Given the description of an element on the screen output the (x, y) to click on. 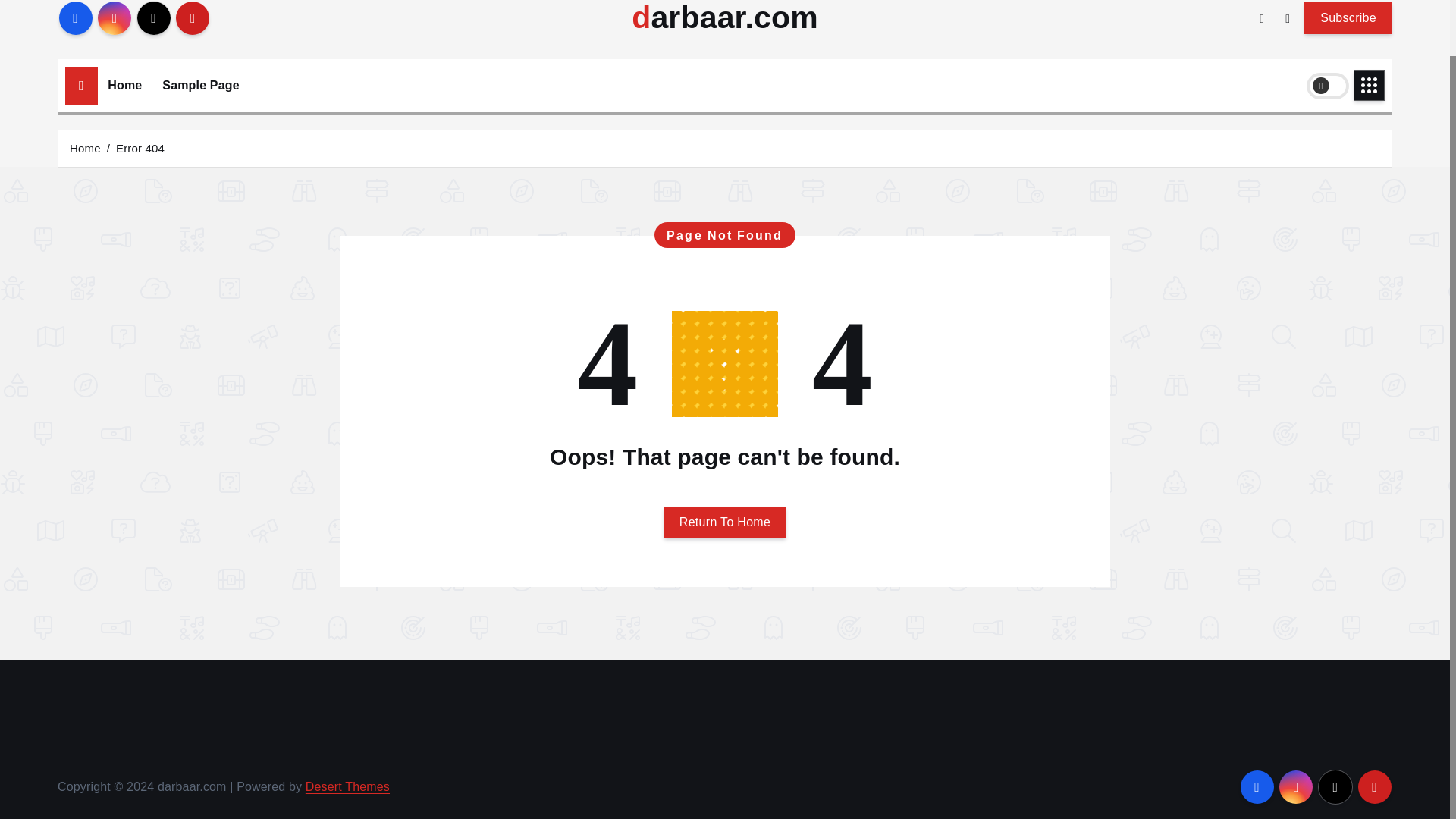
Sample Page (200, 85)
Home (84, 146)
Error 404 (140, 146)
Subscribe (1347, 17)
Return To Home (724, 522)
darbaar.com (724, 17)
Home (124, 85)
Desert Themes (347, 786)
Home (124, 85)
